Given the description of an element on the screen output the (x, y) to click on. 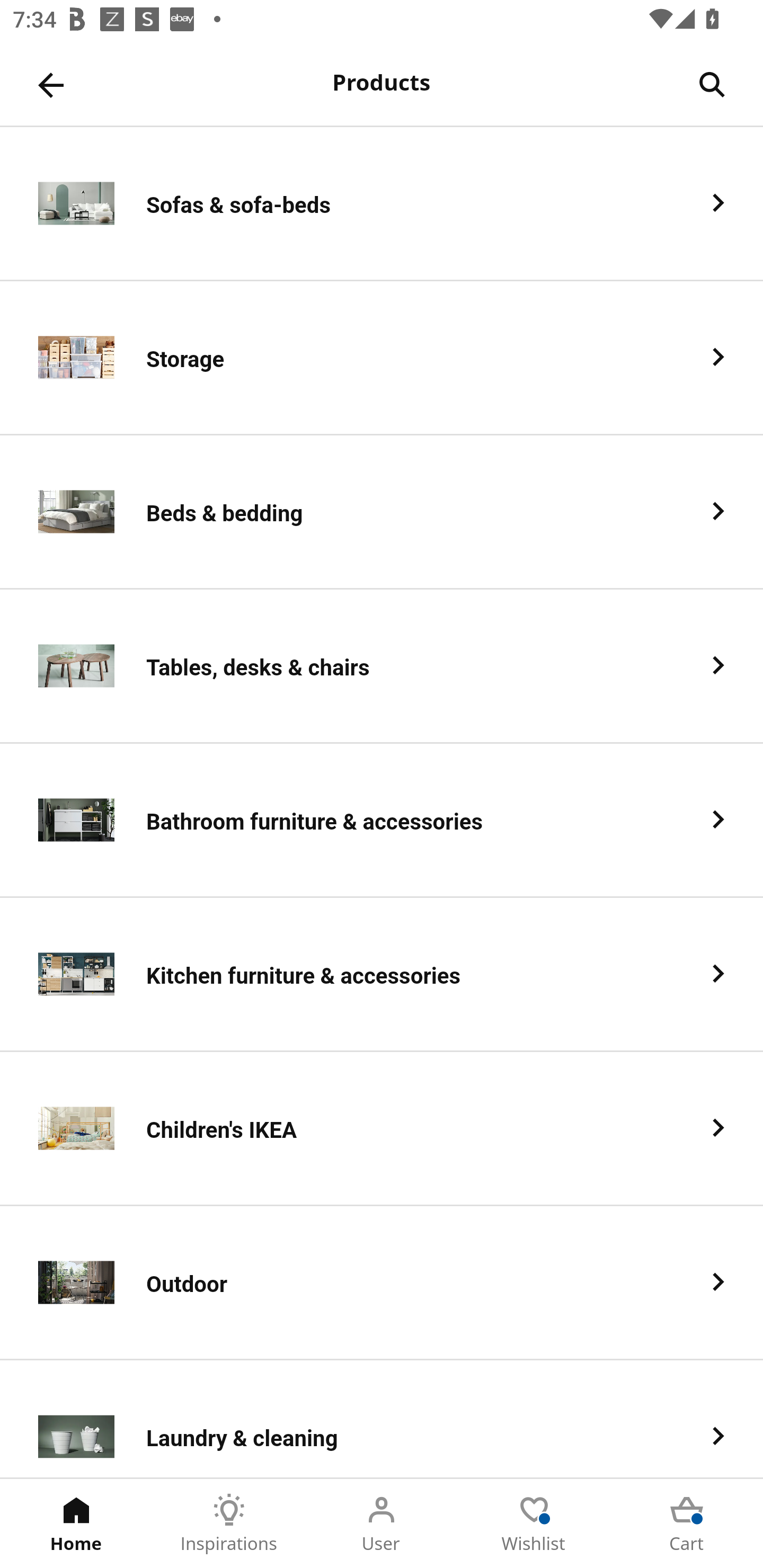
Sofas & sofa-beds (381, 203)
Storage (381, 357)
Beds & bedding (381, 512)
Tables, desks & chairs (381, 666)
Bathroom furniture & accessories (381, 820)
Kitchen furniture & accessories (381, 975)
Children's IKEA (381, 1128)
Outdoor (381, 1283)
Laundry & cleaning (381, 1419)
Home
Tab 1 of 5 (76, 1522)
Inspirations
Tab 2 of 5 (228, 1522)
User
Tab 3 of 5 (381, 1522)
Wishlist
Tab 4 of 5 (533, 1522)
Cart
Tab 5 of 5 (686, 1522)
